Given the description of an element on the screen output the (x, y) to click on. 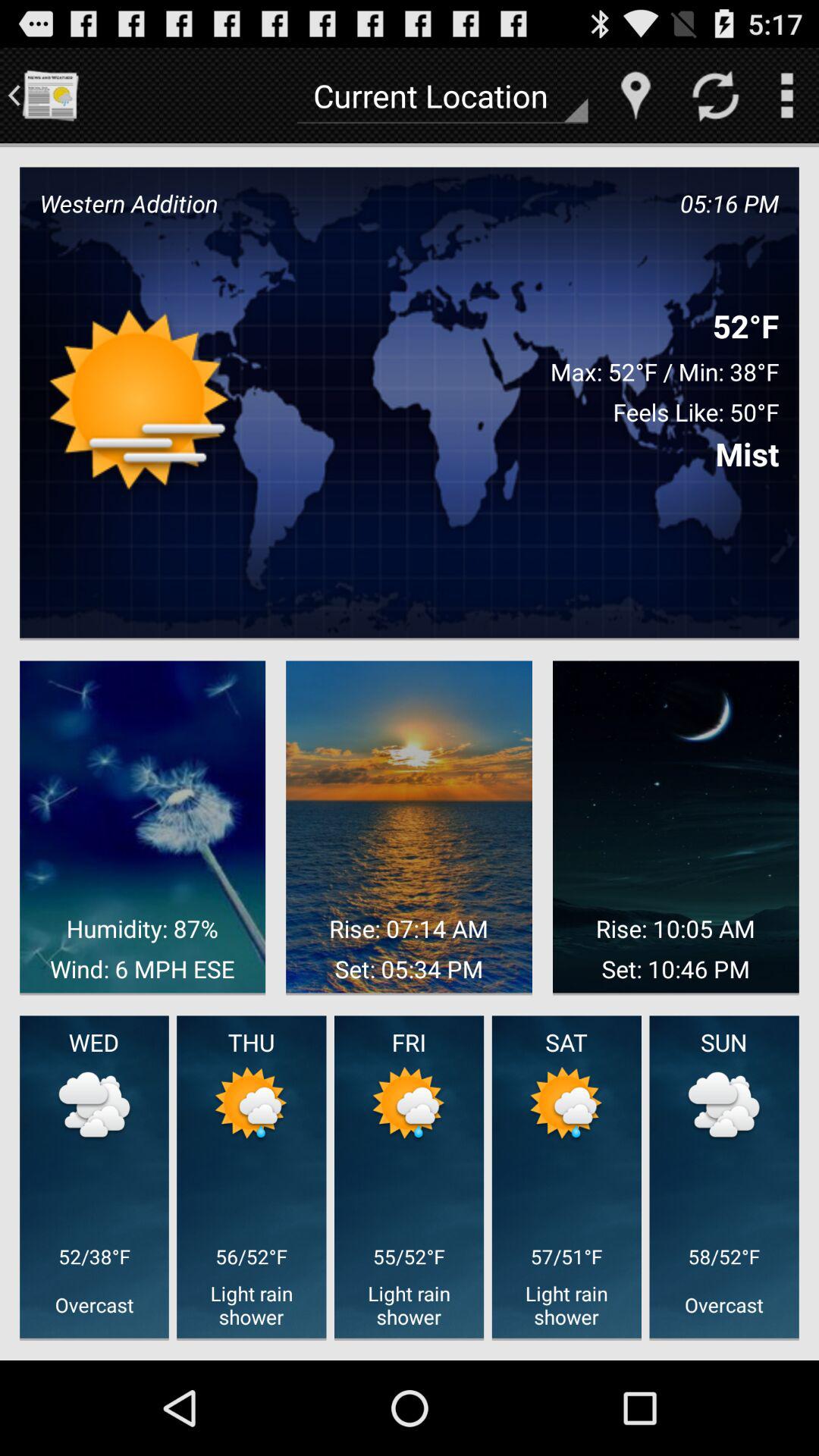
search map (635, 95)
